Given the description of an element on the screen output the (x, y) to click on. 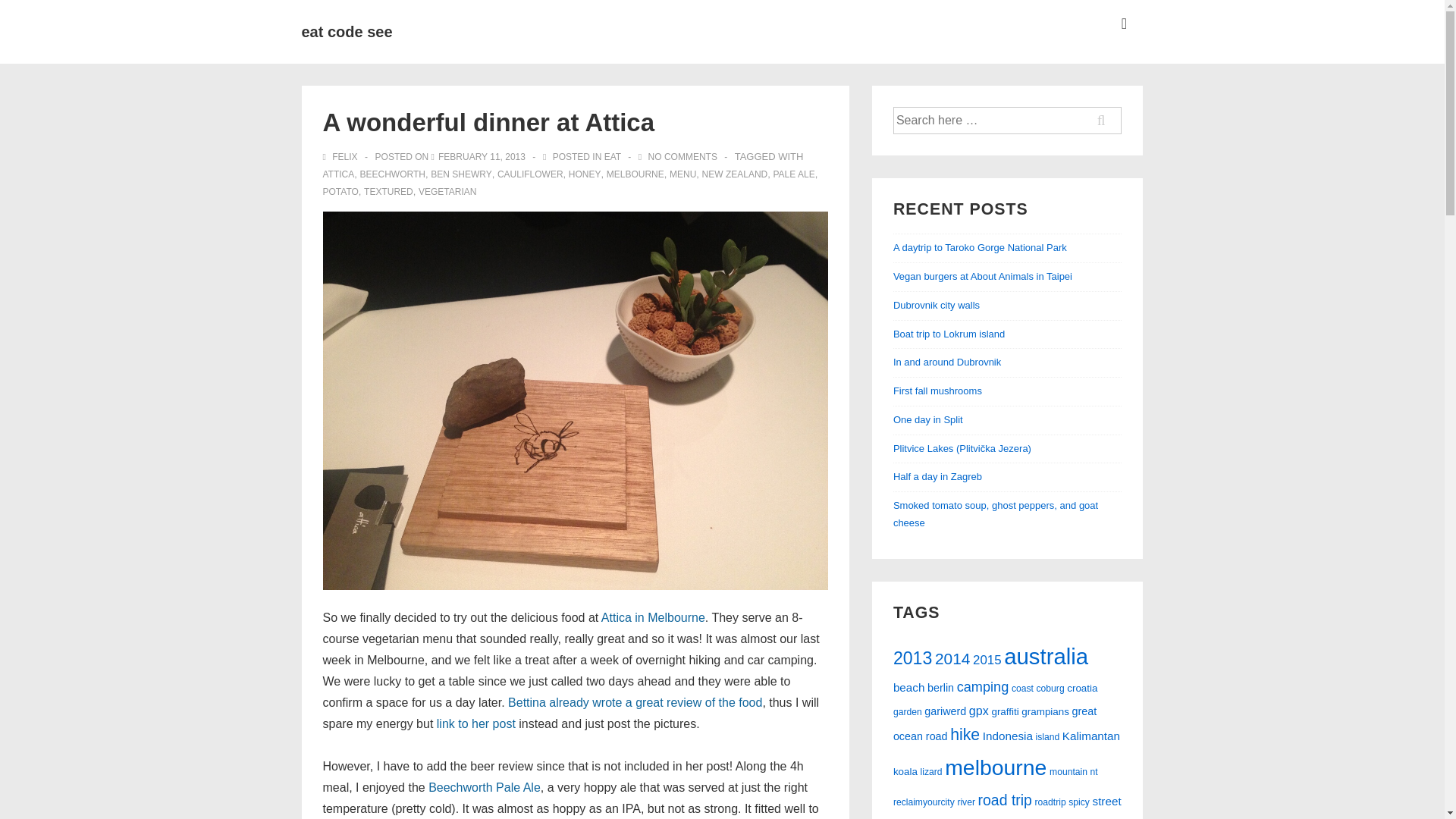
NO COMMENTS (682, 156)
BEN SHEWRY (461, 173)
POTATO (340, 191)
ATTICA (339, 173)
TEXTURED (388, 191)
EAT (612, 156)
MELBOURNE (635, 173)
HONEY (585, 173)
View all posts by felix (341, 156)
CAULIFLOWER (530, 173)
MENU (682, 173)
Beechworth Pale Ale (484, 787)
FEBRUARY 11, 2013 (481, 156)
VEGETARIAN (447, 191)
FELIX (341, 156)
